Given the description of an element on the screen output the (x, y) to click on. 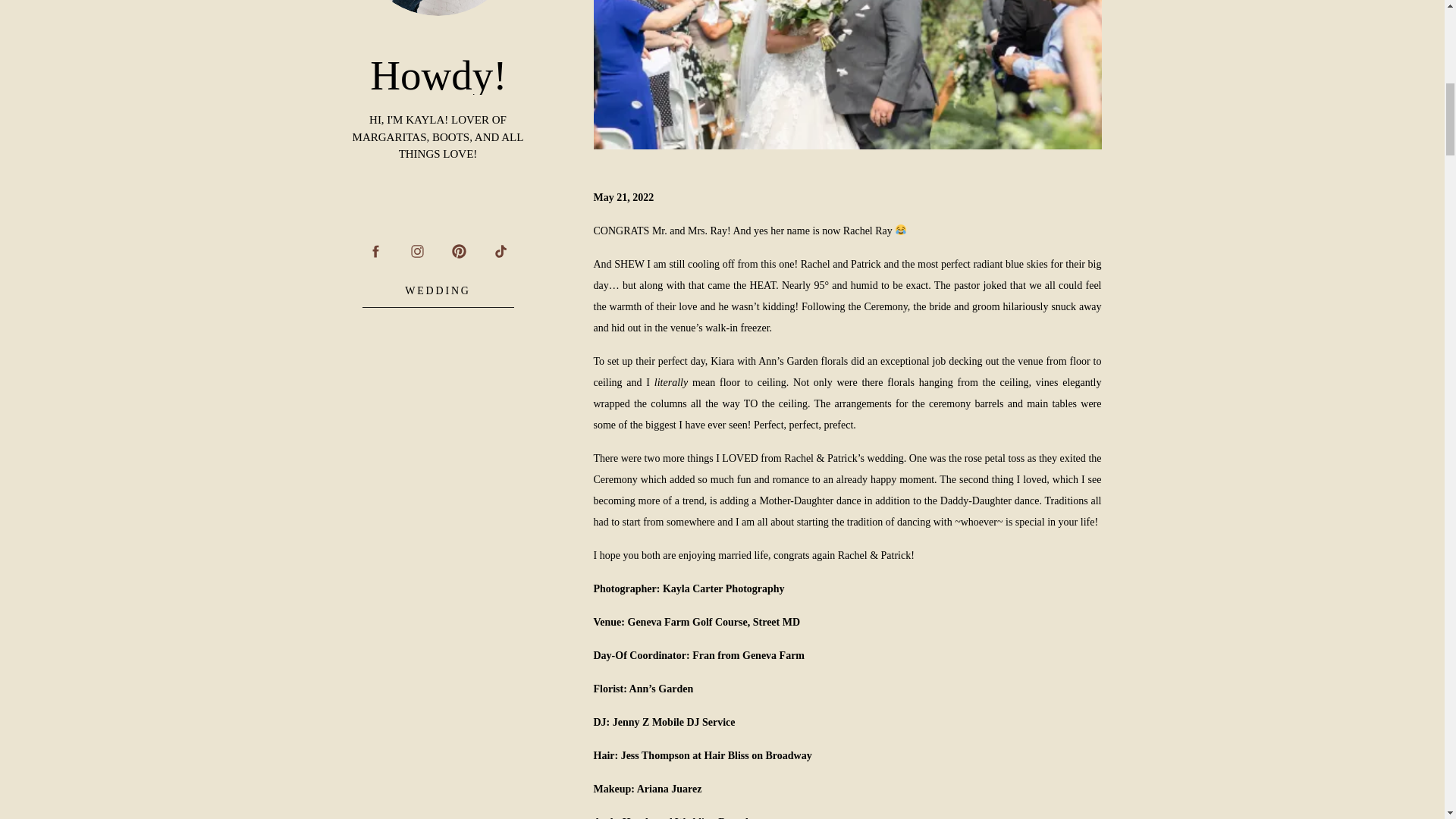
WEDDING (437, 290)
